Given the description of an element on the screen output the (x, y) to click on. 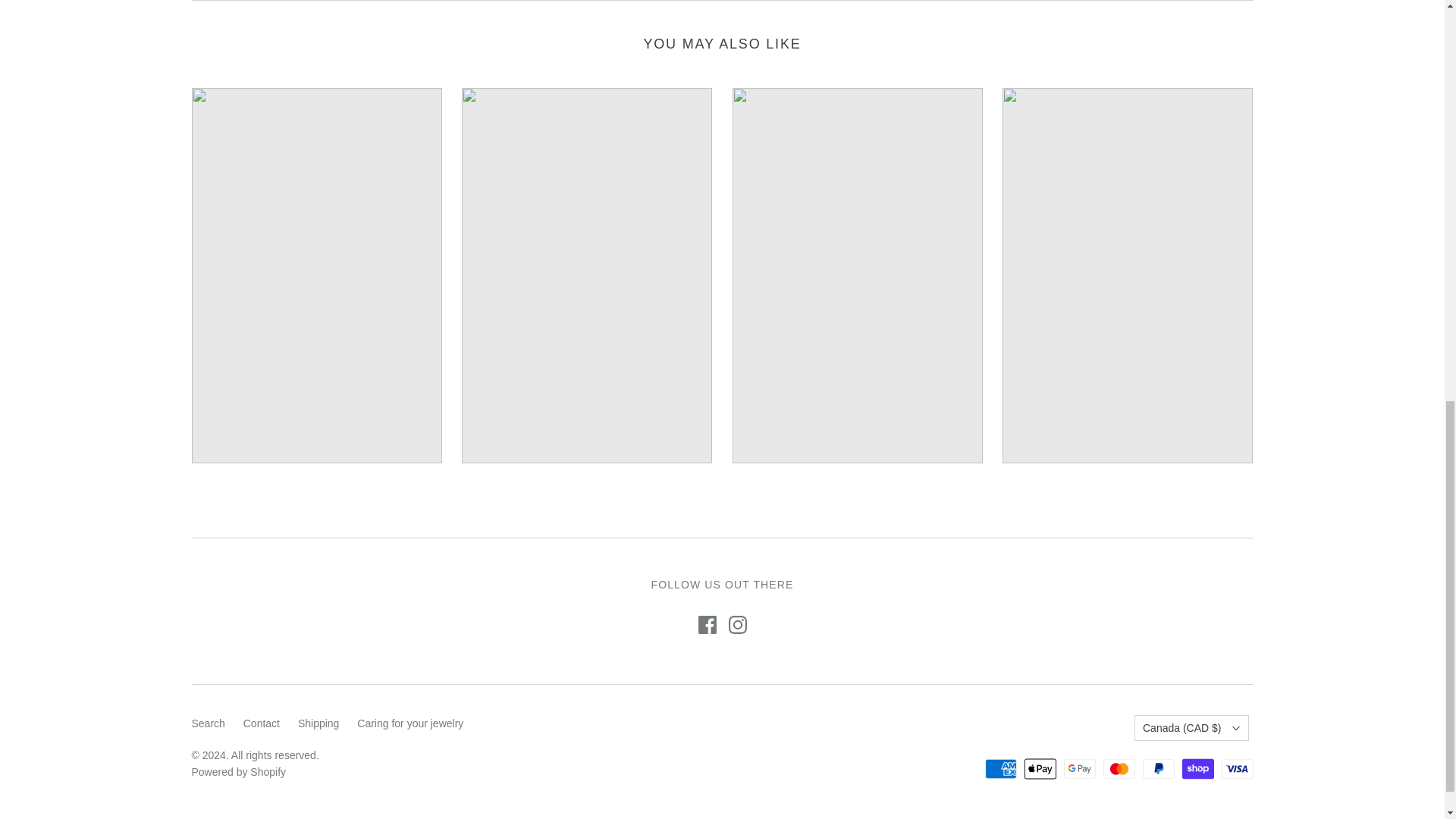
American Express (1000, 768)
PayPal (1158, 768)
Apple Pay (1041, 768)
Mastercard (1119, 768)
Google Pay (1080, 768)
